Given the description of an element on the screen output the (x, y) to click on. 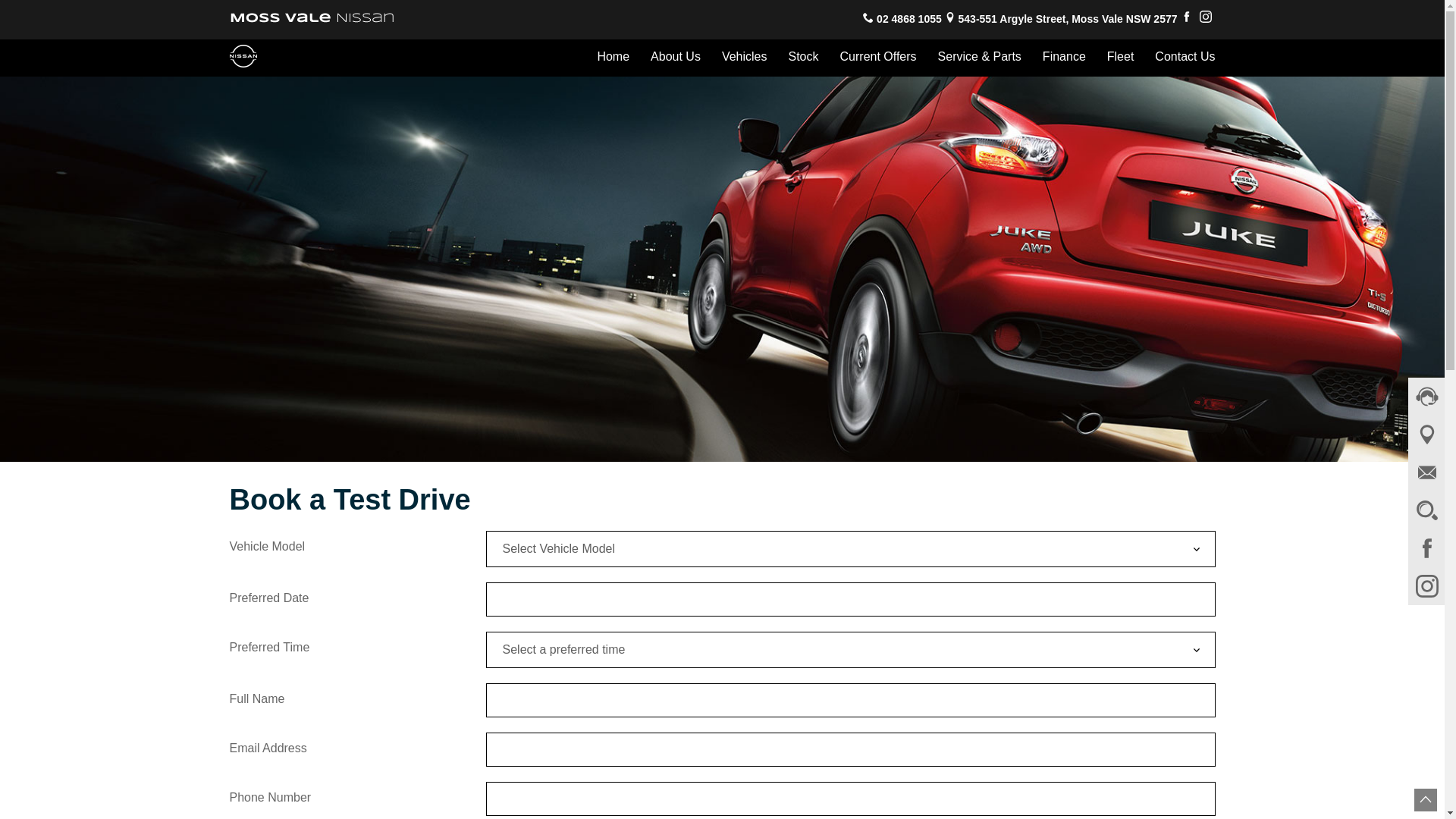
02 4868 1055 Element type: text (908, 19)
Contact Us Element type: text (1179, 56)
Service & Parts Element type: text (979, 56)
543-551 Argyle Street, Moss Vale NSW 2577 Element type: text (1067, 19)
Fleet Element type: text (1120, 56)
Current Offers Element type: text (878, 56)
Stock Element type: text (803, 56)
Home Element type: text (613, 56)
About Us Element type: text (675, 56)
Vehicles Element type: text (744, 56)
Finance Element type: text (1064, 56)
